Given the description of an element on the screen output the (x, y) to click on. 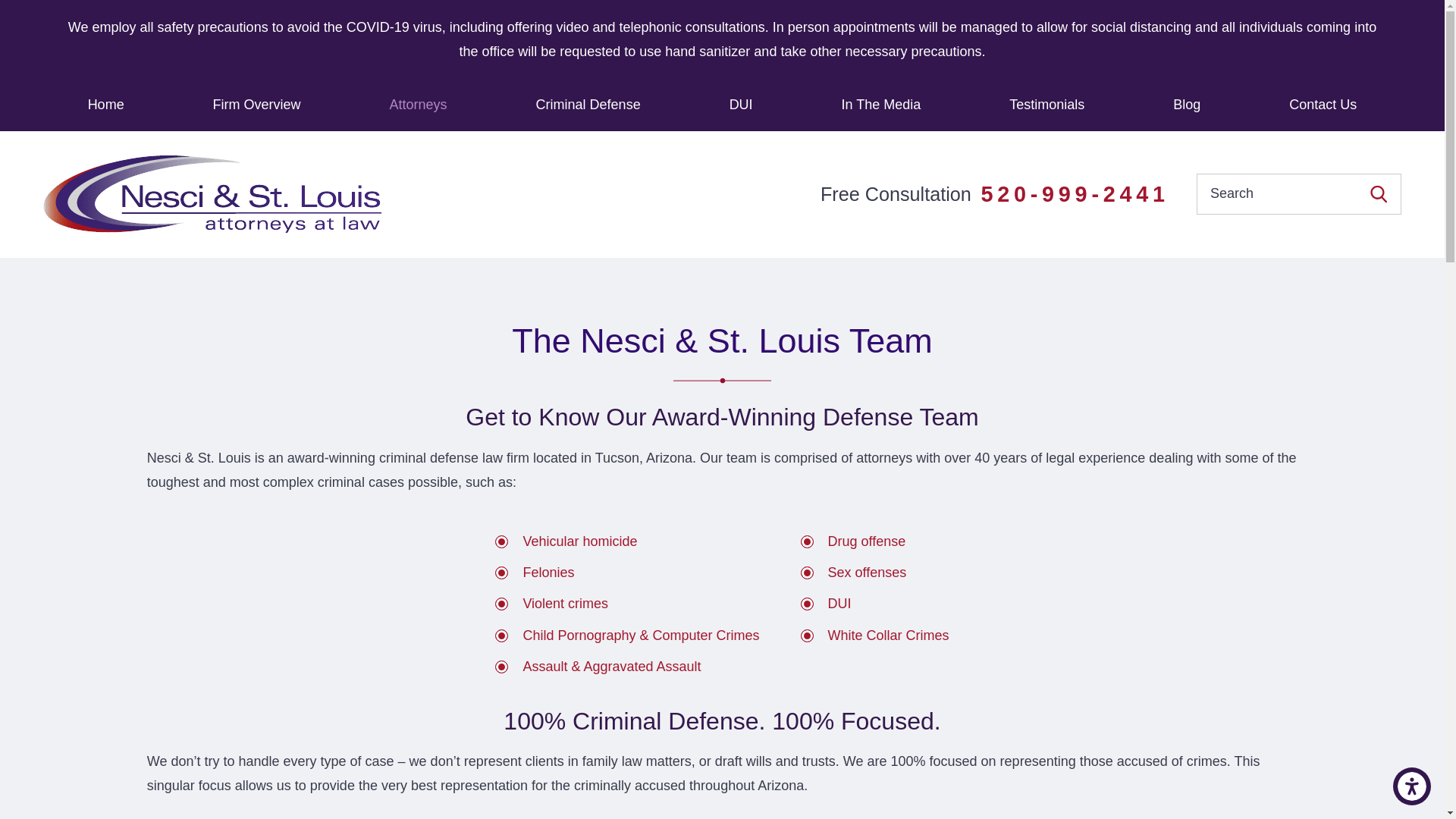
Firm Overview (256, 104)
Criminal Defense (588, 104)
Search Icon (1378, 194)
In The Media (880, 104)
Attorneys (418, 104)
Open the accessibility options menu (1412, 786)
Home (105, 104)
DUI (740, 104)
Search Our Site (1378, 194)
